Given the description of an element on the screen output the (x, y) to click on. 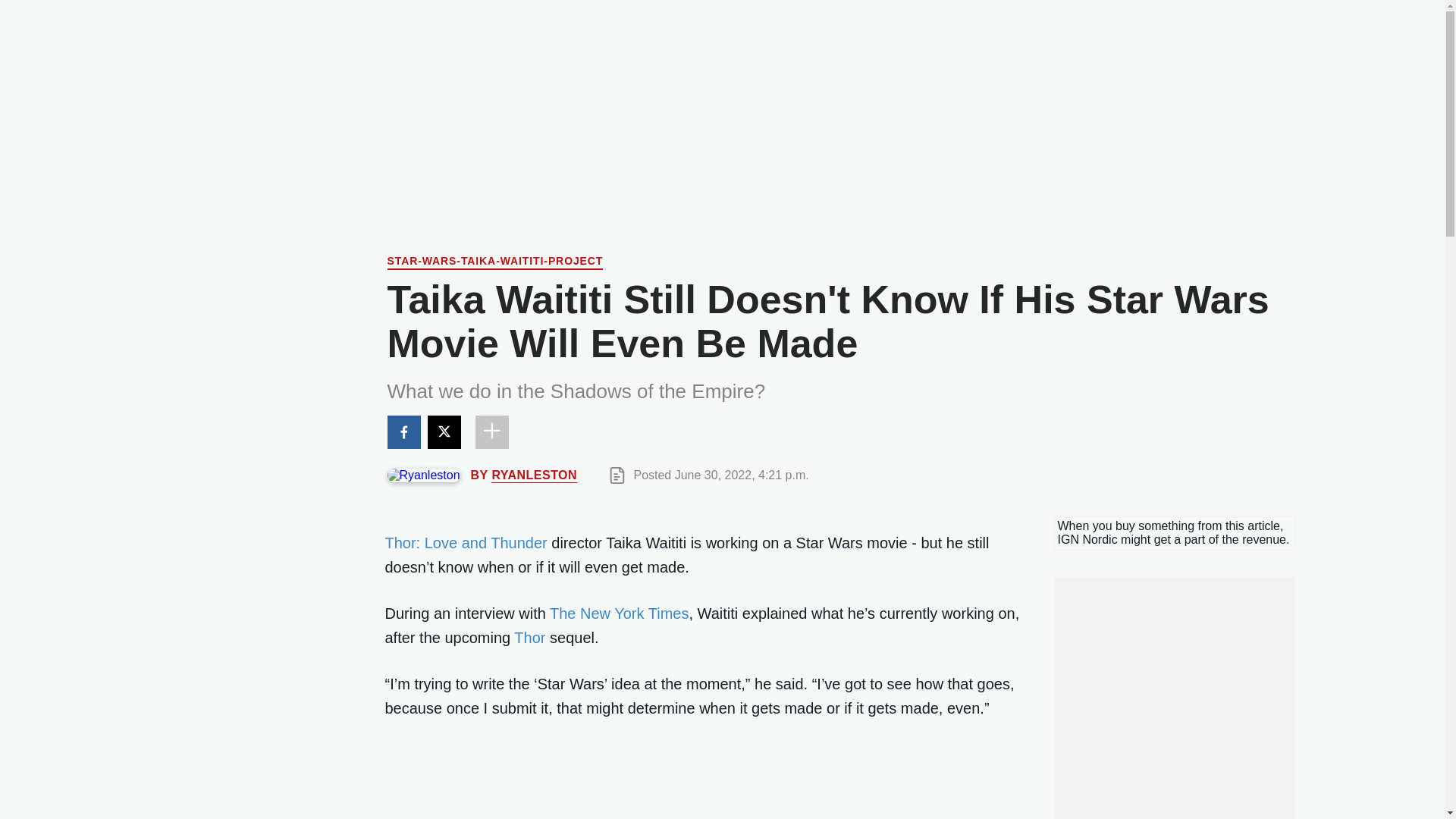
Thor: Love and Thunder (466, 542)
RYANLESTON (534, 474)
star-wars-taika-waititi-project (494, 262)
STAR-WARS-TAIKA-WAITITI-PROJECT (494, 262)
